Given the description of an element on the screen output the (x, y) to click on. 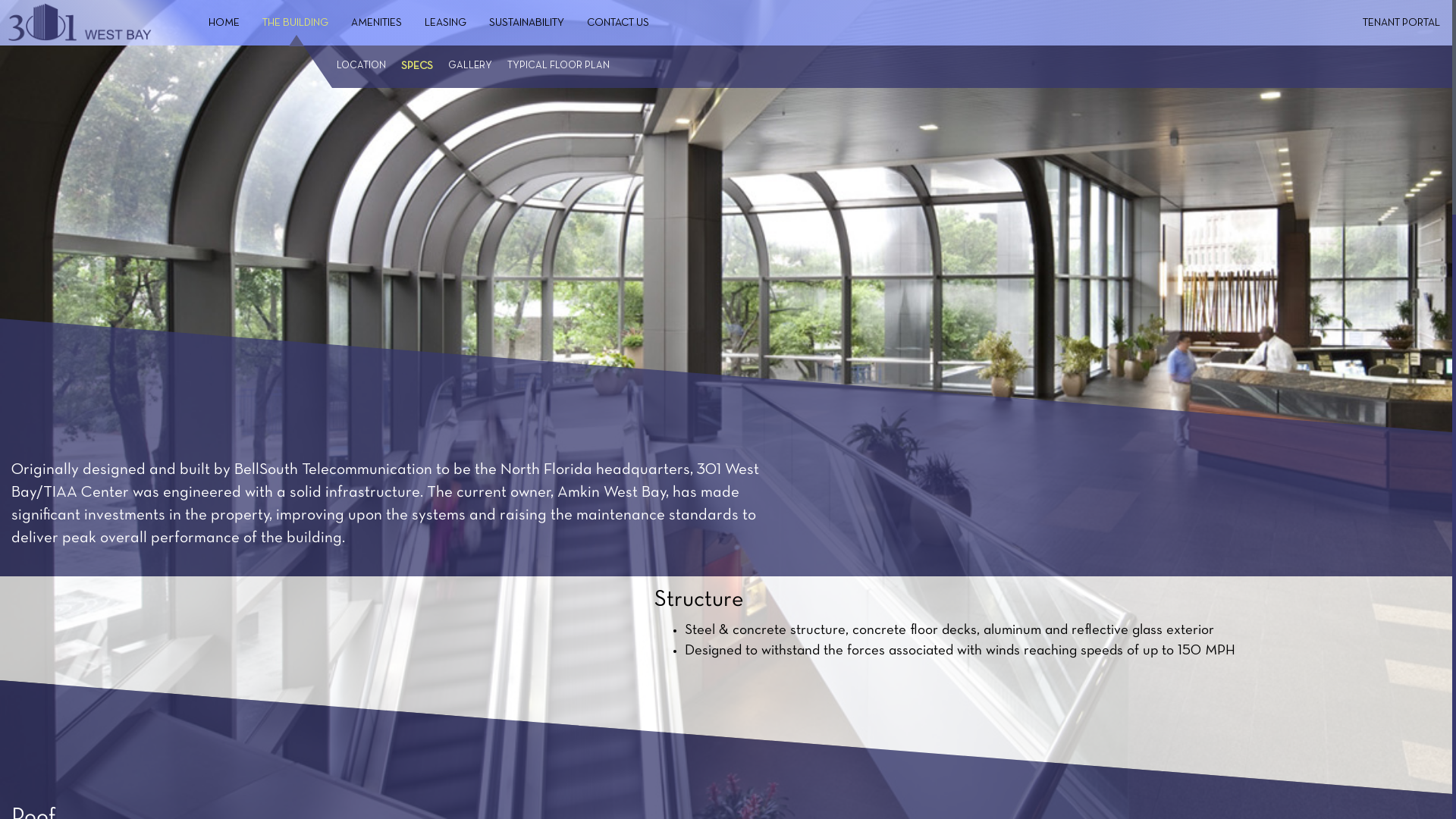
SPECS Element type: text (416, 66)
THE BUILDING Element type: text (295, 23)
GALLERY Element type: text (469, 66)
LEASING Element type: text (445, 23)
AMENITIES Element type: text (376, 23)
TENANT PORTAL Element type: text (1401, 23)
HOME Element type: text (224, 23)
CONTACT US Element type: text (617, 23)
SUSTAINABILITY Element type: text (526, 23)
LOCATION Element type: text (361, 66)
TYPICAL FLOOR PLAN Element type: text (558, 66)
